Given the description of an element on the screen output the (x, y) to click on. 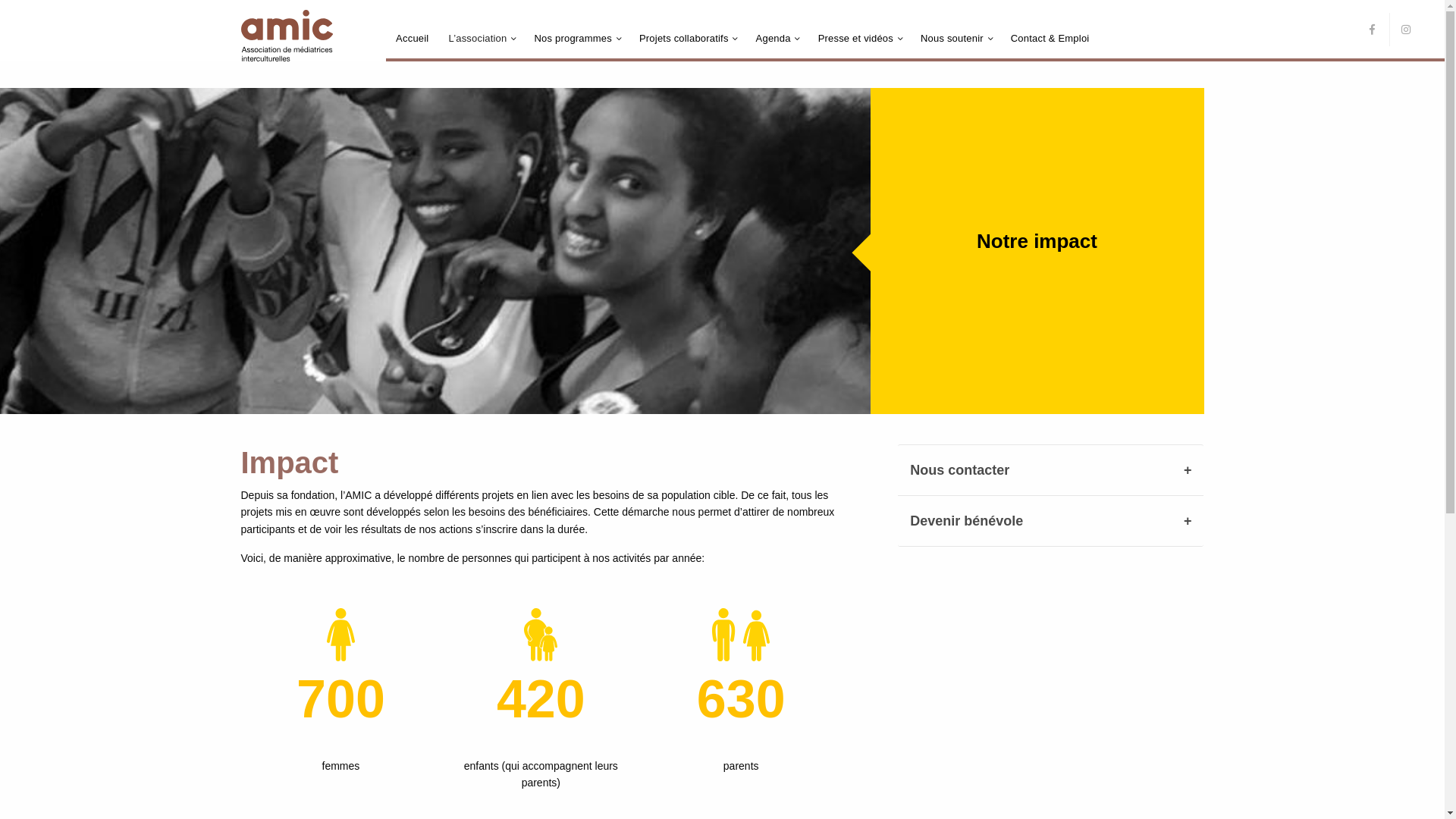
Nous contacter Element type: text (1050, 469)
Contact & Emploi Element type: text (1050, 38)
Accueil Element type: text (411, 38)
Agenda Element type: text (773, 38)
Projets collaboratifs Element type: text (683, 38)
Nos programmes Element type: text (572, 38)
Nous soutenir Element type: text (951, 38)
